Given the description of an element on the screen output the (x, y) to click on. 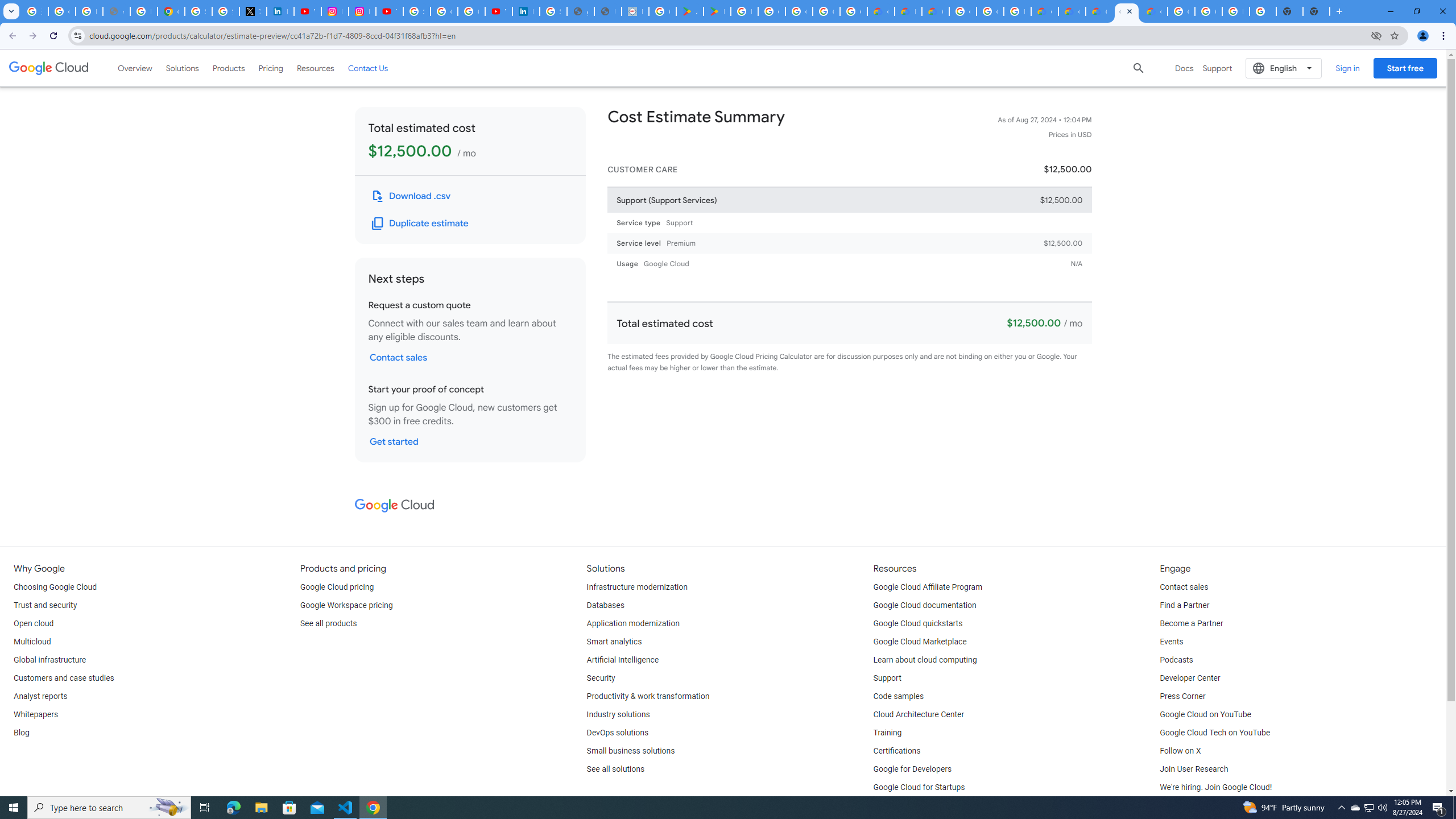
Artificial Intelligence (622, 660)
Customer Care | Google Cloud (1044, 11)
Application modernization (632, 624)
Google Cloud quickstarts (917, 624)
Google Workspace pricing (346, 605)
Certifications (896, 751)
Databases (605, 605)
Training (887, 732)
